Given the description of an element on the screen output the (x, y) to click on. 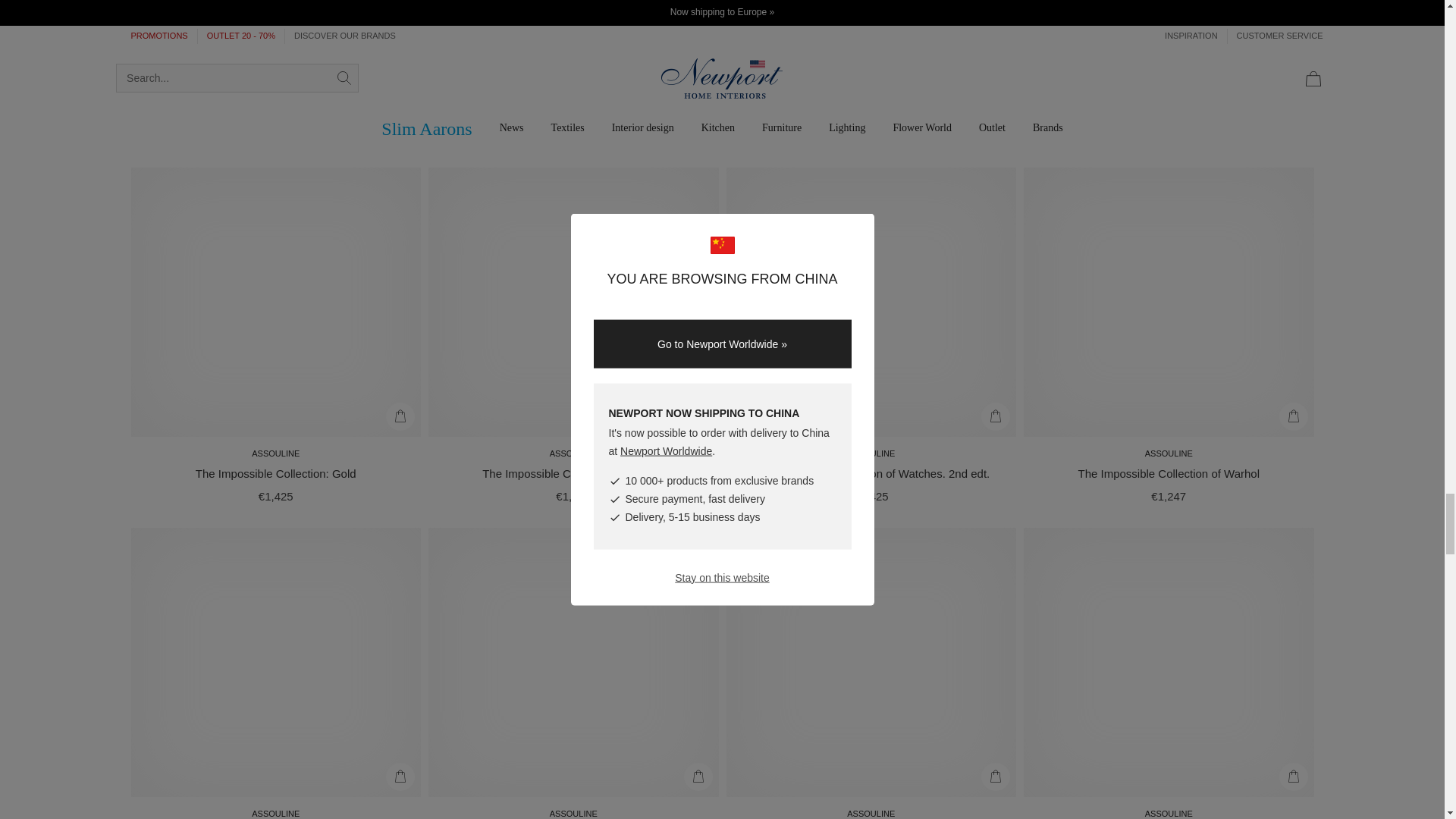
The Impossible Collection of Chanel (572, 473)
The Impossible Collection of Warhol (1168, 473)
The Impossible Collection of Watches. 2nd edt. (871, 473)
The Impossible Collection: Gold (275, 473)
